Given the description of an element on the screen output the (x, y) to click on. 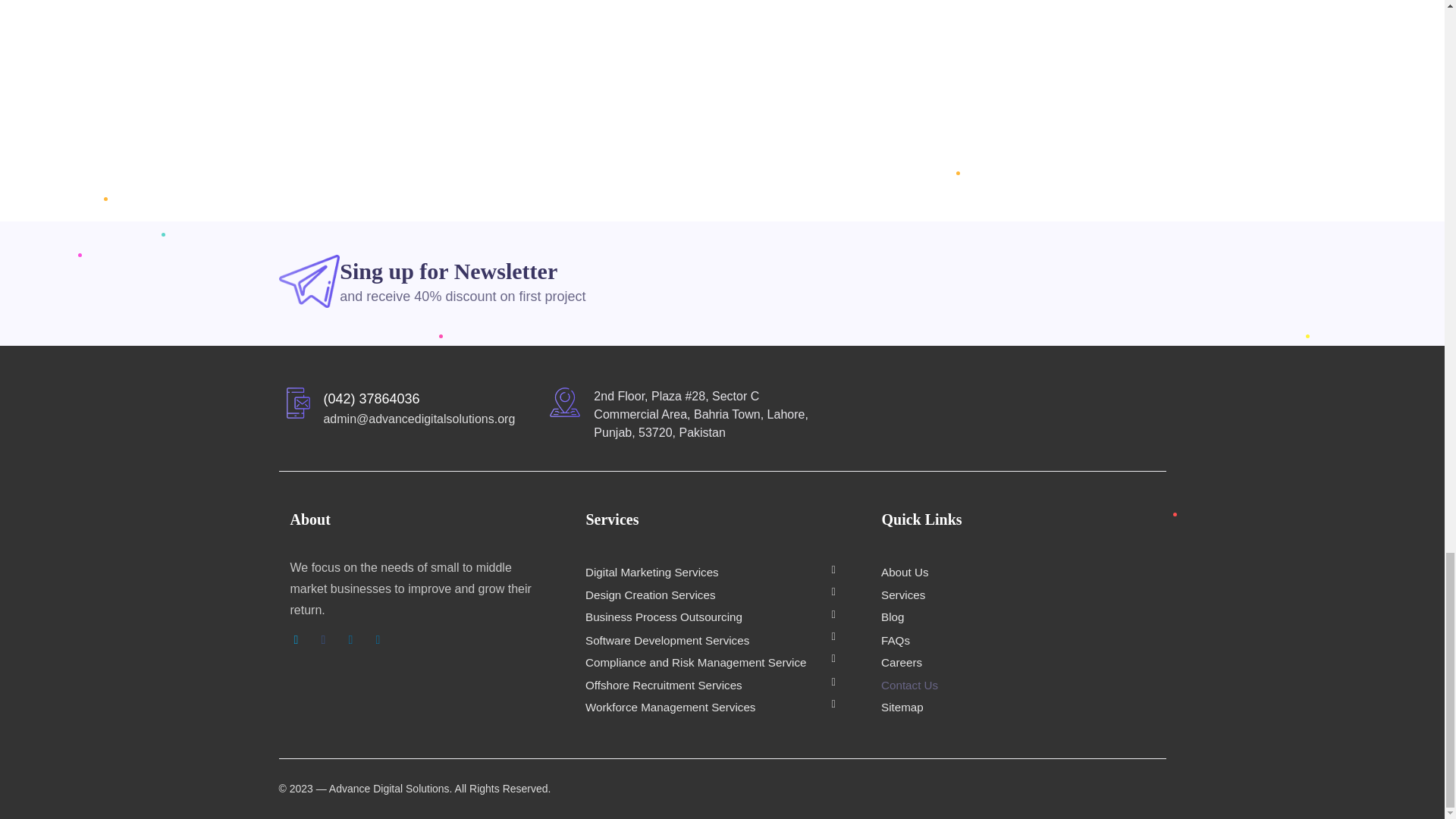
Location (564, 401)
